Given the description of an element on the screen output the (x, y) to click on. 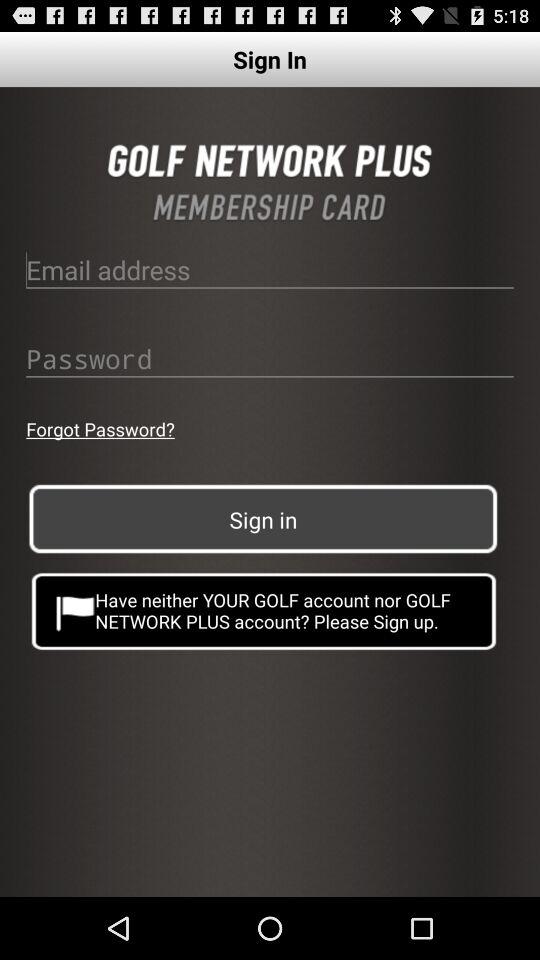
turn on button above the sign in button (100, 428)
